Given the description of an element on the screen output the (x, y) to click on. 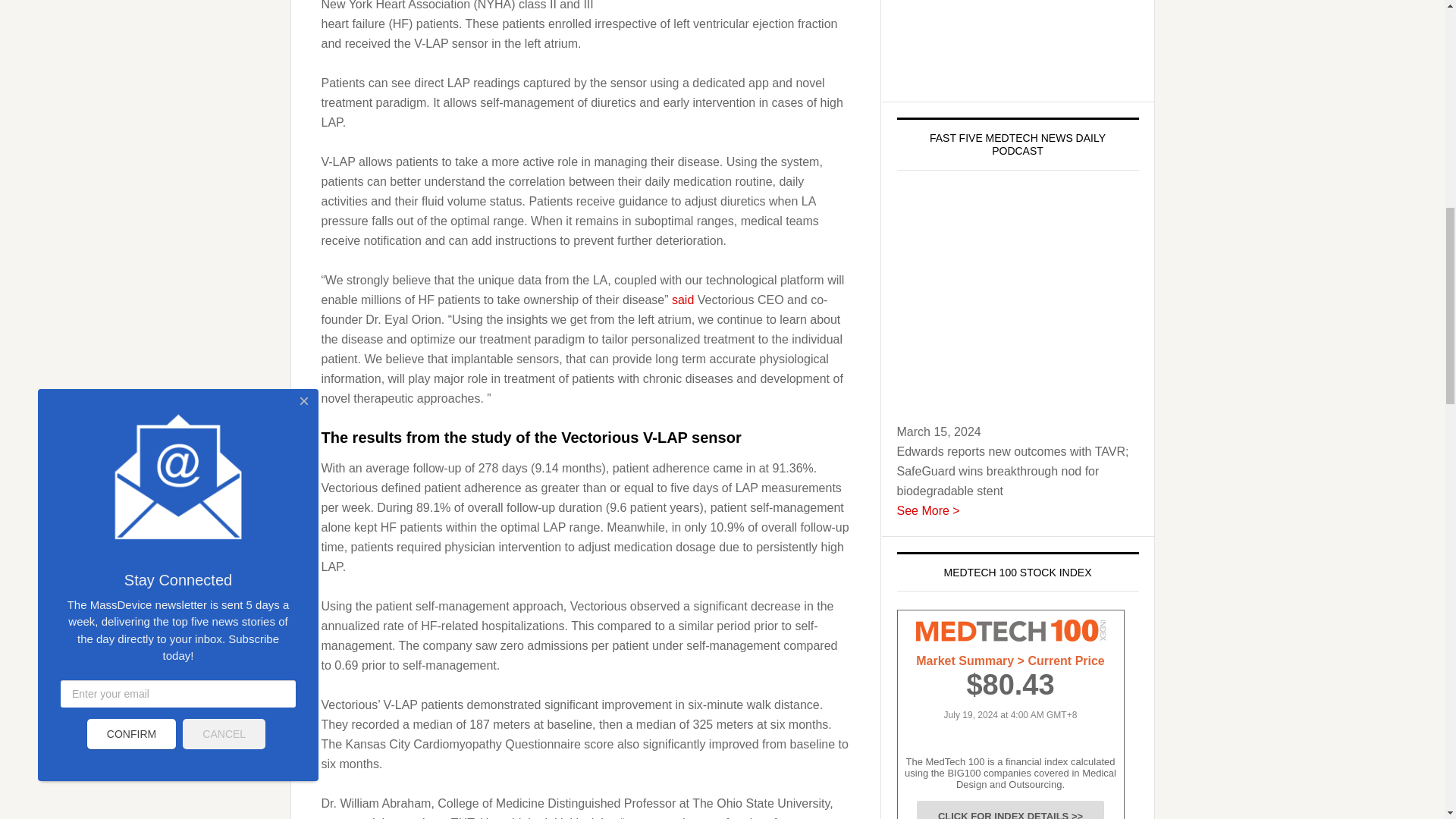
3rd party ad content (1017, 43)
